Given the description of an element on the screen output the (x, y) to click on. 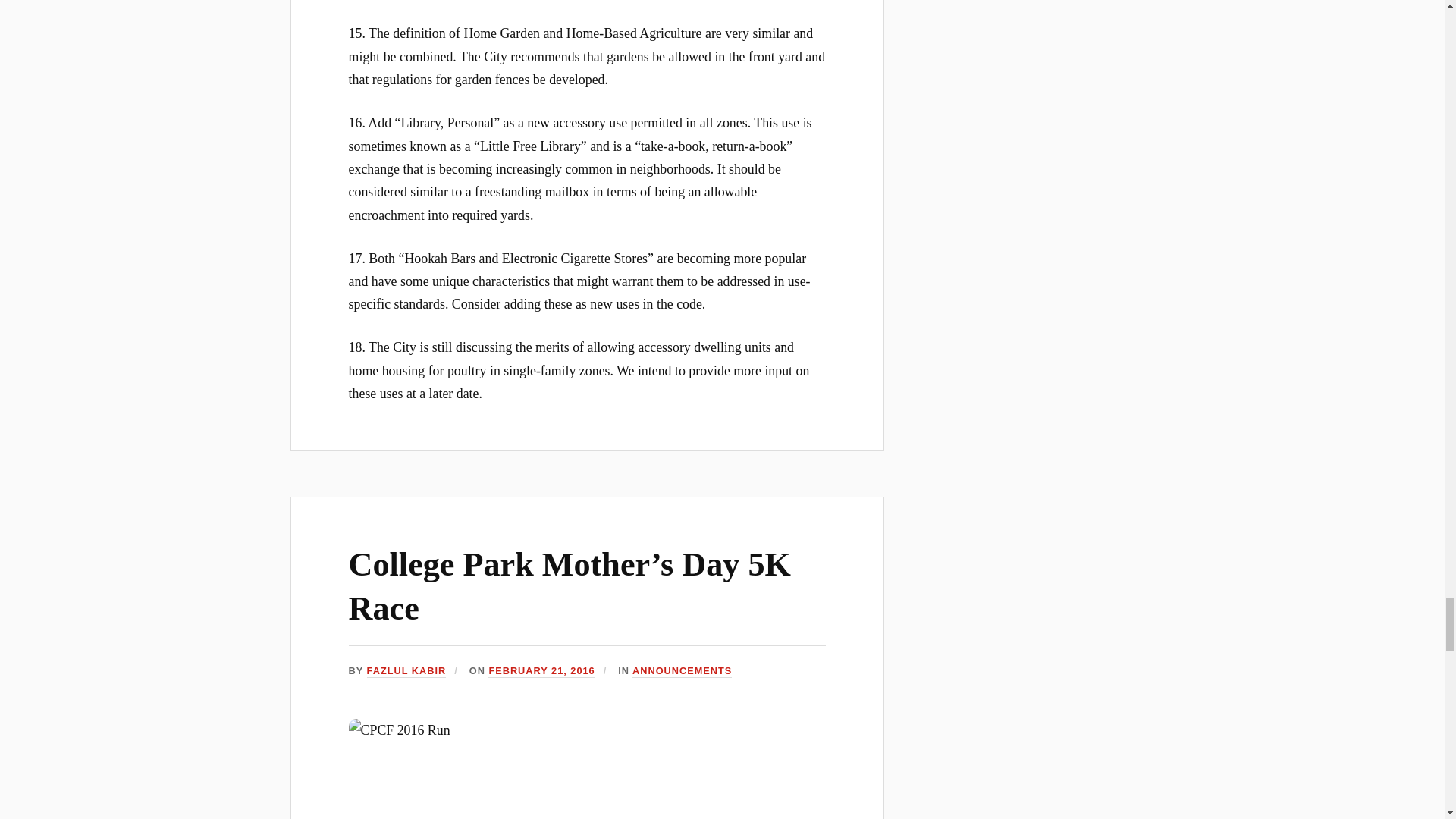
Posts by Fazlul Kabir (406, 671)
